Given the description of an element on the screen output the (x, y) to click on. 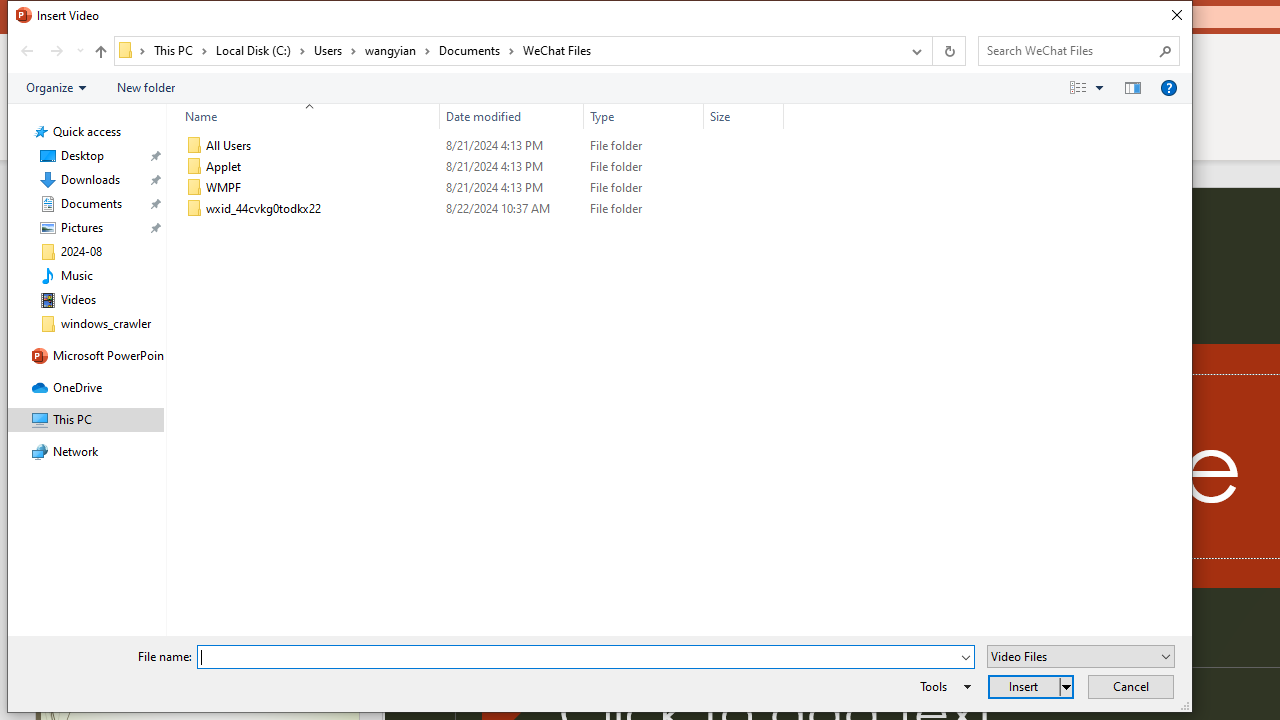
Class: UIImage (194, 209)
Back (Alt + Left Arrow) (26, 51)
&Help (1168, 87)
New folder (145, 87)
Local Disk (C:) (260, 50)
Tools (942, 686)
wxid_44cvkg0todkx22 (480, 209)
Views (1090, 87)
Applet (480, 166)
Preview pane (1132, 87)
Filter dropdown (775, 115)
Up band toolbar (100, 54)
